Given the description of an element on the screen output the (x, y) to click on. 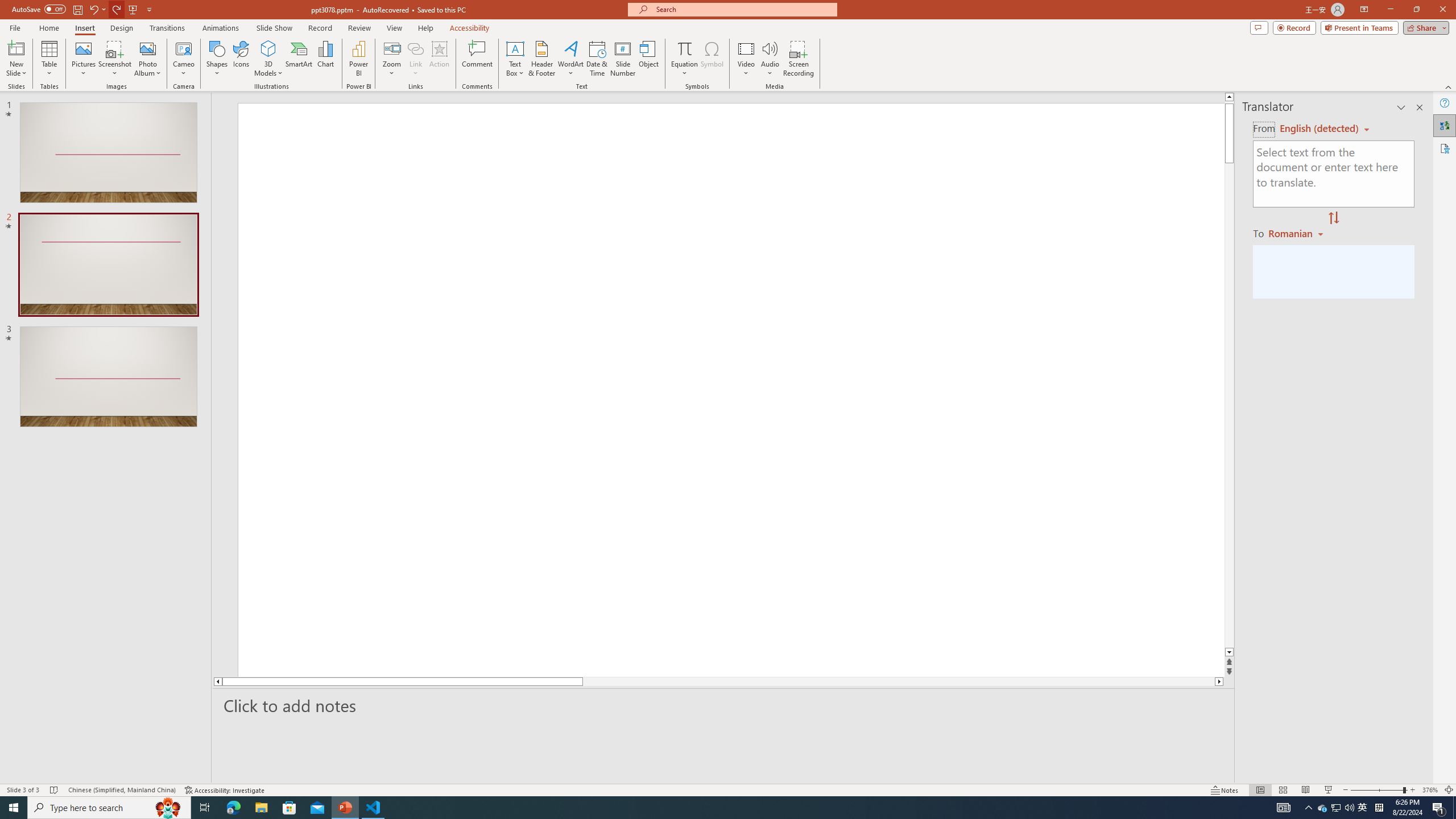
Object... (649, 58)
Photo Album... (147, 58)
Draw Horizontal Text Box (515, 48)
WordArt (570, 58)
Symbol... (711, 58)
